Given the description of an element on the screen output the (x, y) to click on. 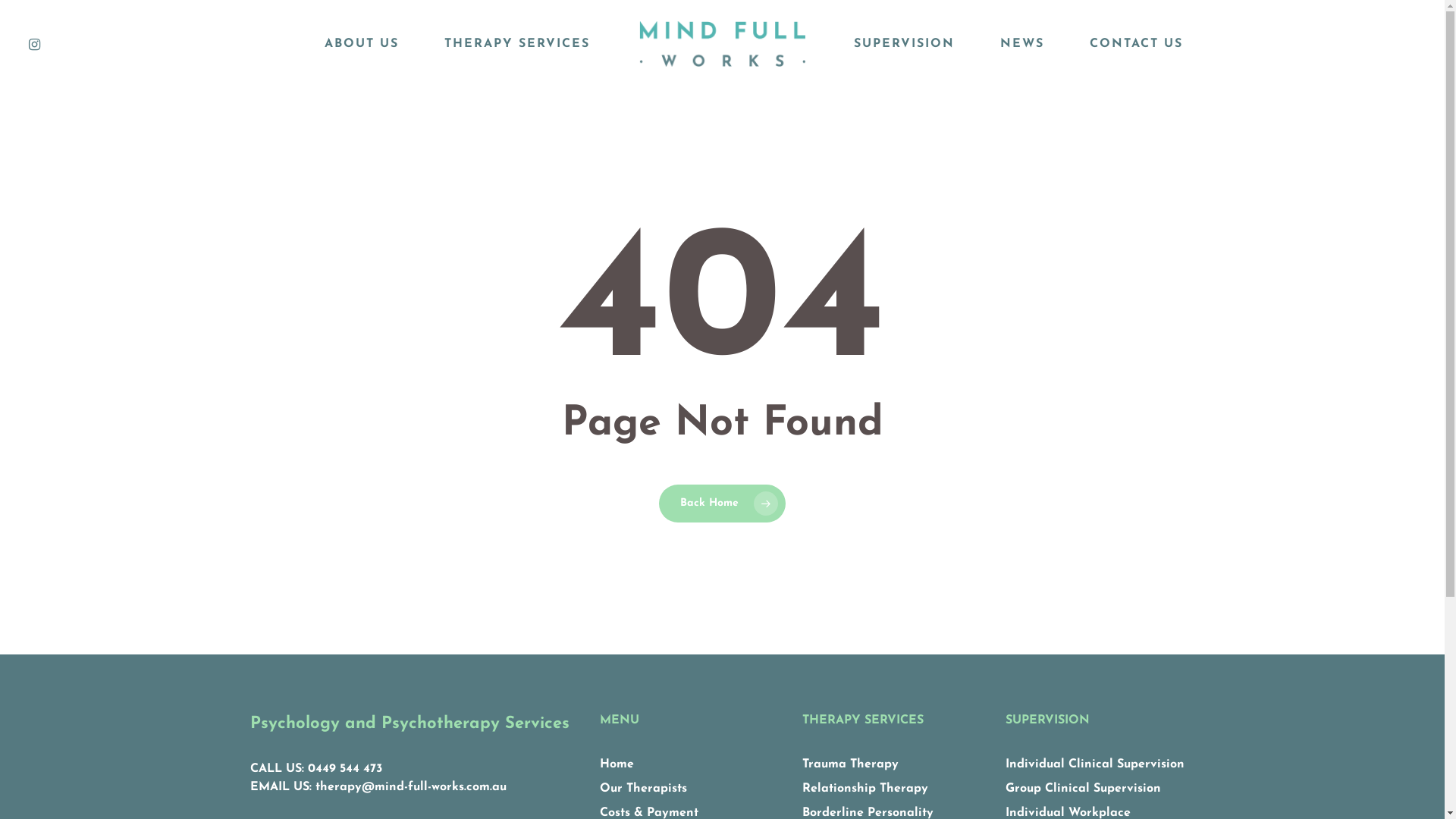
Relationship Therapy Element type: text (865, 788)
Home Element type: text (616, 764)
therapy@mind-full-works.com.au Element type: text (410, 787)
Back Home Element type: text (721, 502)
SUPERVISION Element type: text (903, 43)
0449 544 473 Element type: text (344, 768)
NEWS Element type: text (1022, 43)
Group Clinical Supervision Element type: text (1083, 788)
Trauma Therapy Element type: text (850, 764)
CONTACT US Element type: text (1136, 43)
Individual Clinical Supervision Element type: text (1094, 764)
INSTAGRAM Element type: text (34, 44)
Our Therapists Element type: text (643, 788)
THERAPY SERVICES Element type: text (516, 43)
ABOUT US Element type: text (361, 43)
